Given the description of an element on the screen output the (x, y) to click on. 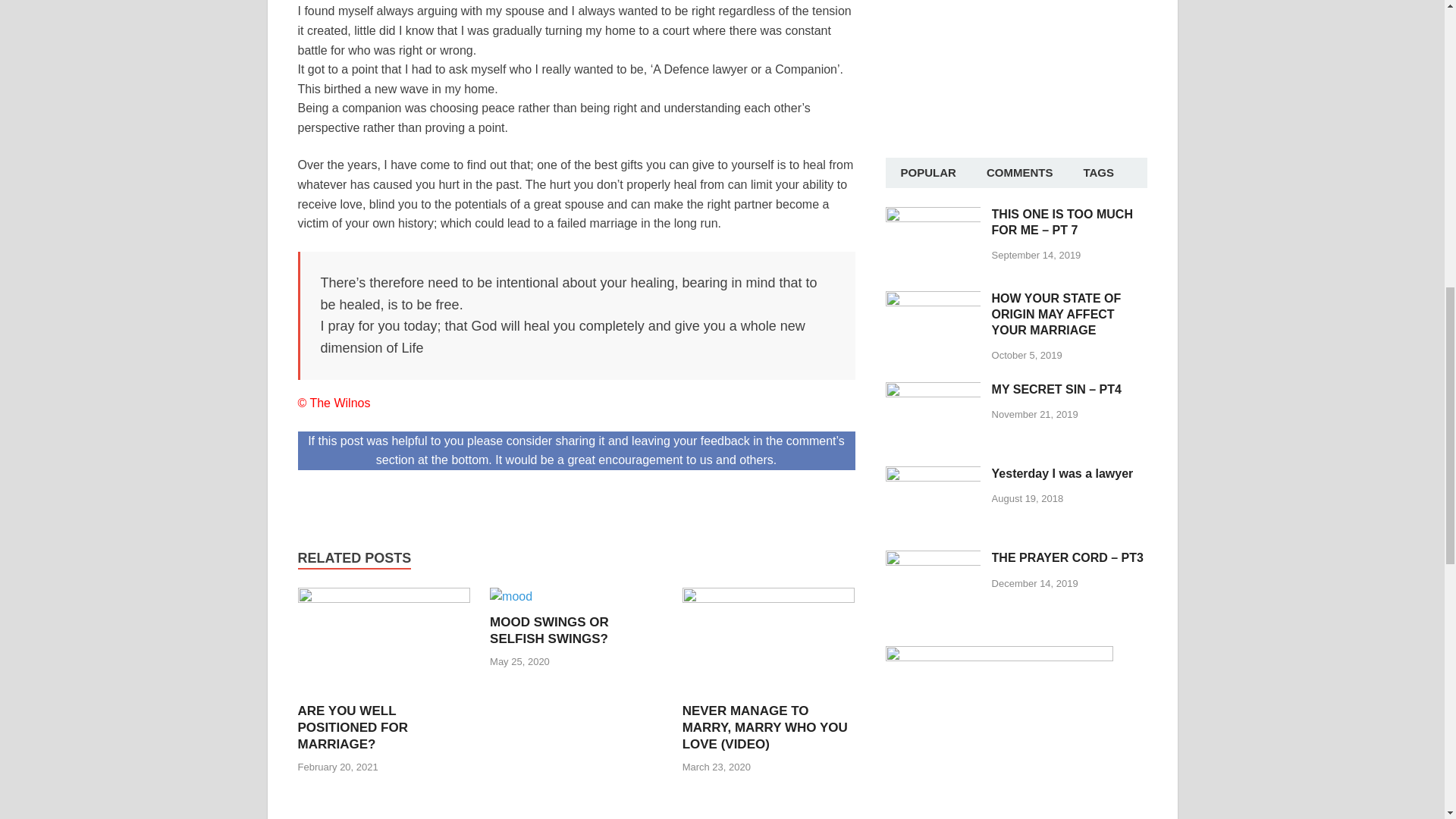
MOOD SWINGS OR SELFISH SWINGS? (548, 630)
ARE YOU WELL POSITIONED FOR MARRIAGE? (383, 598)
HOW YOUR STATE OF ORIGIN MAY AFFECT YOUR MARRIAGE (932, 299)
MOOD SWINGS OR SELFISH SWINGS? (510, 595)
ARE YOU WELL POSITIONED FOR MARRIAGE? (352, 727)
ARE YOU WELL POSITIONED FOR MARRIAGE? (352, 727)
MOOD SWINGS OR SELFISH SWINGS? (548, 630)
